Given the description of an element on the screen output the (x, y) to click on. 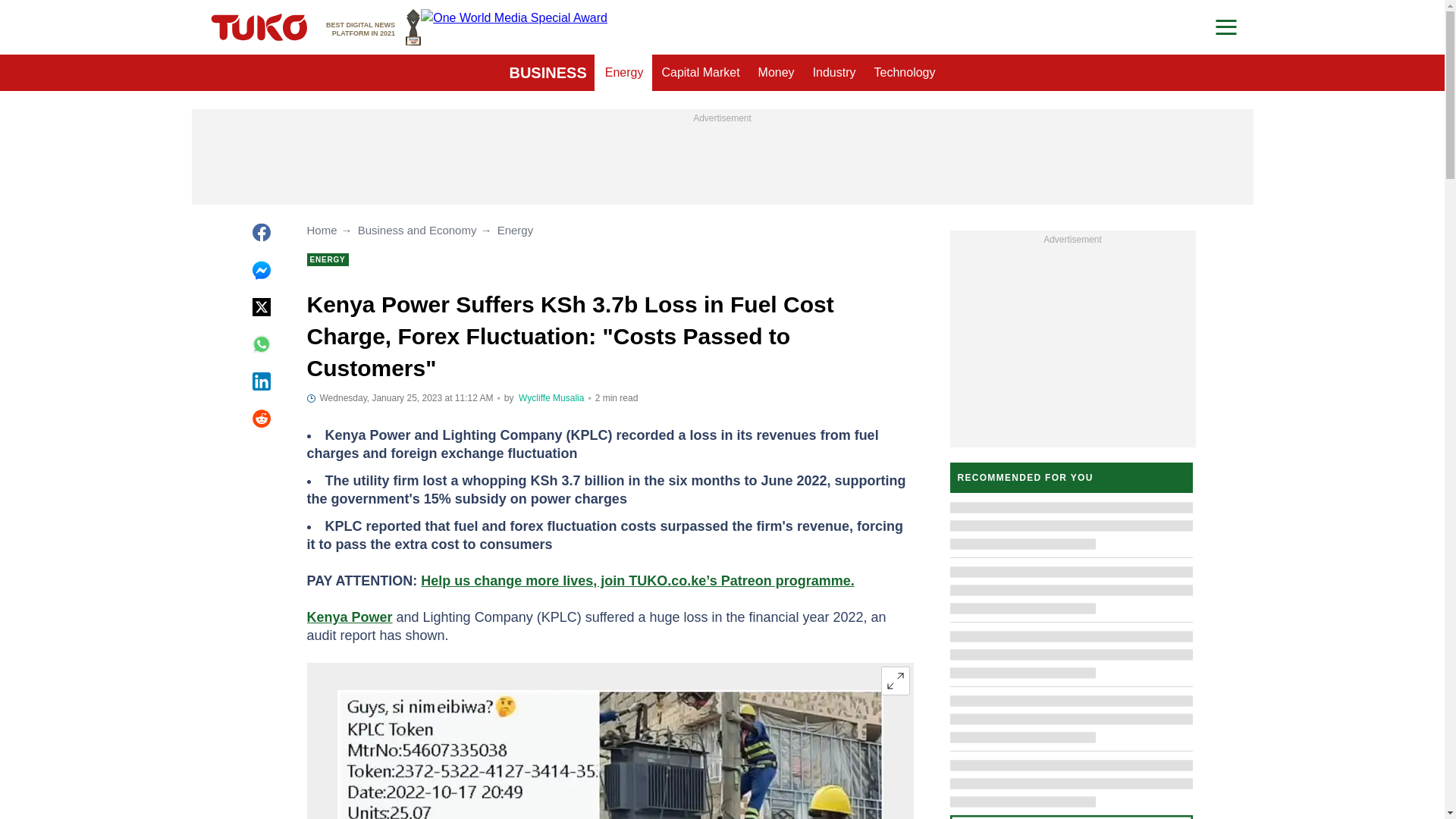
Expand image (895, 680)
Money (776, 72)
Capital Market (700, 72)
BUSINESS (547, 72)
Industry (833, 72)
Author page (373, 27)
Energy (550, 398)
Technology (623, 72)
